Given the description of an element on the screen output the (x, y) to click on. 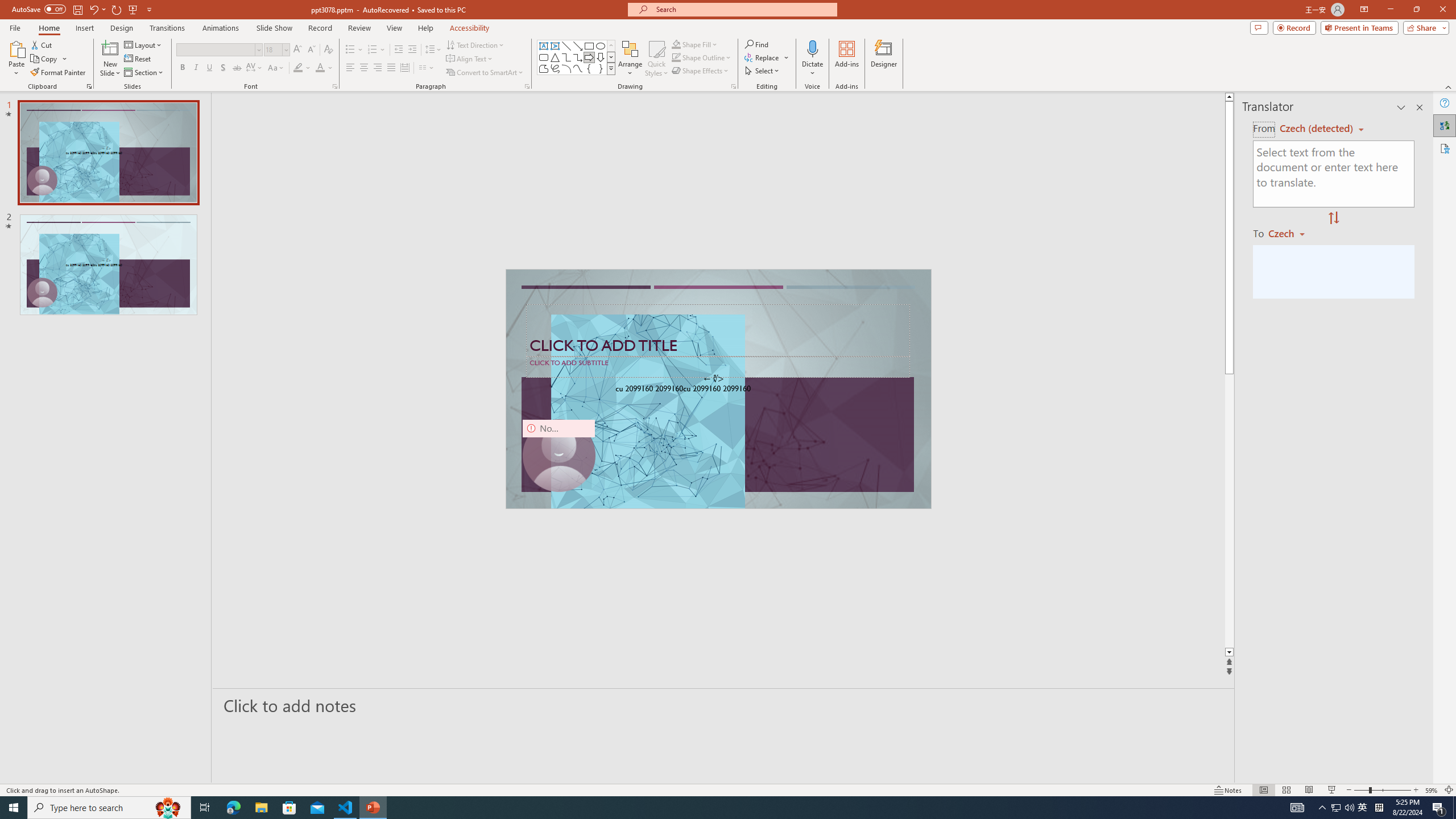
Zoom 59% (1431, 790)
